Given the description of an element on the screen output the (x, y) to click on. 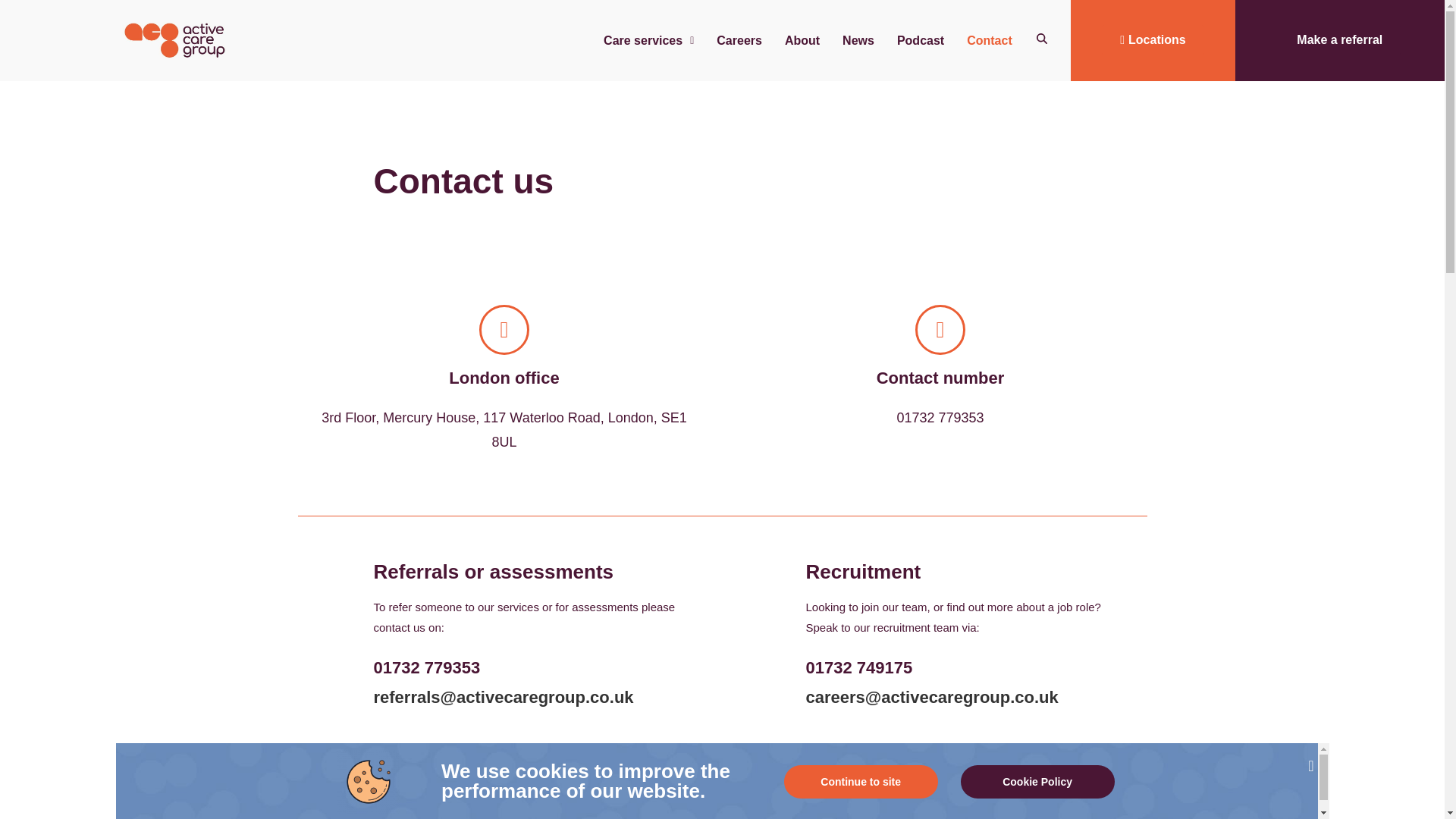
Make a referral (1339, 40)
Careers (738, 39)
Podcast (920, 39)
News (858, 39)
Contact (989, 39)
About (802, 39)
Care services (648, 39)
Locations (1153, 40)
